Given the description of an element on the screen output the (x, y) to click on. 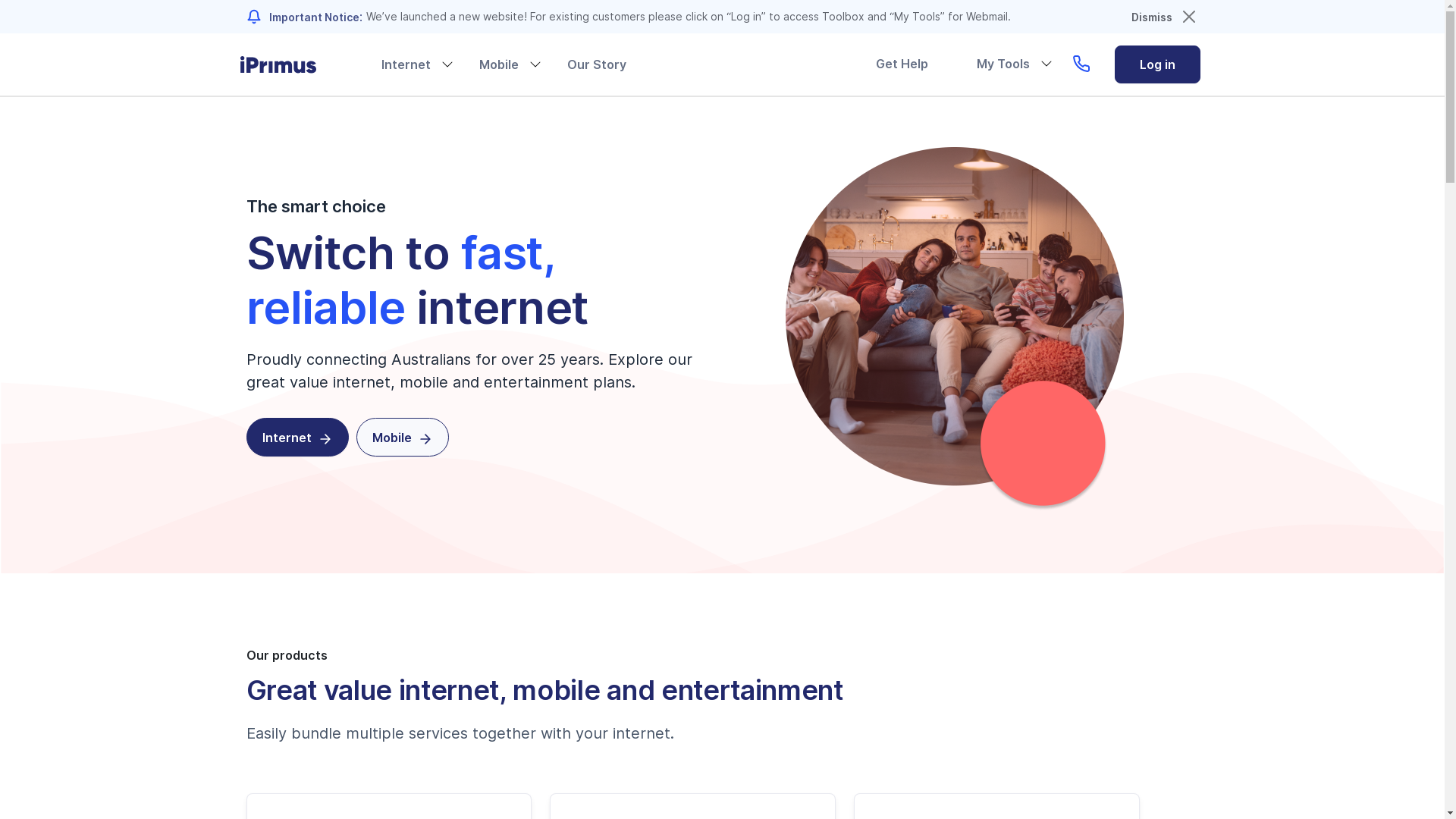
Log in Element type: text (1157, 64)
Internet Element type: text (405, 64)
My Tools Element type: text (1003, 63)
Mobile Element type: text (498, 64)
Mobile Element type: text (402, 436)
Home Element type: hover (290, 64)
Get Help Element type: text (900, 63)
Dismiss Element type: text (1151, 16)
Our Story Element type: text (596, 64)
Internet Element type: text (296, 436)
